Given the description of an element on the screen output the (x, y) to click on. 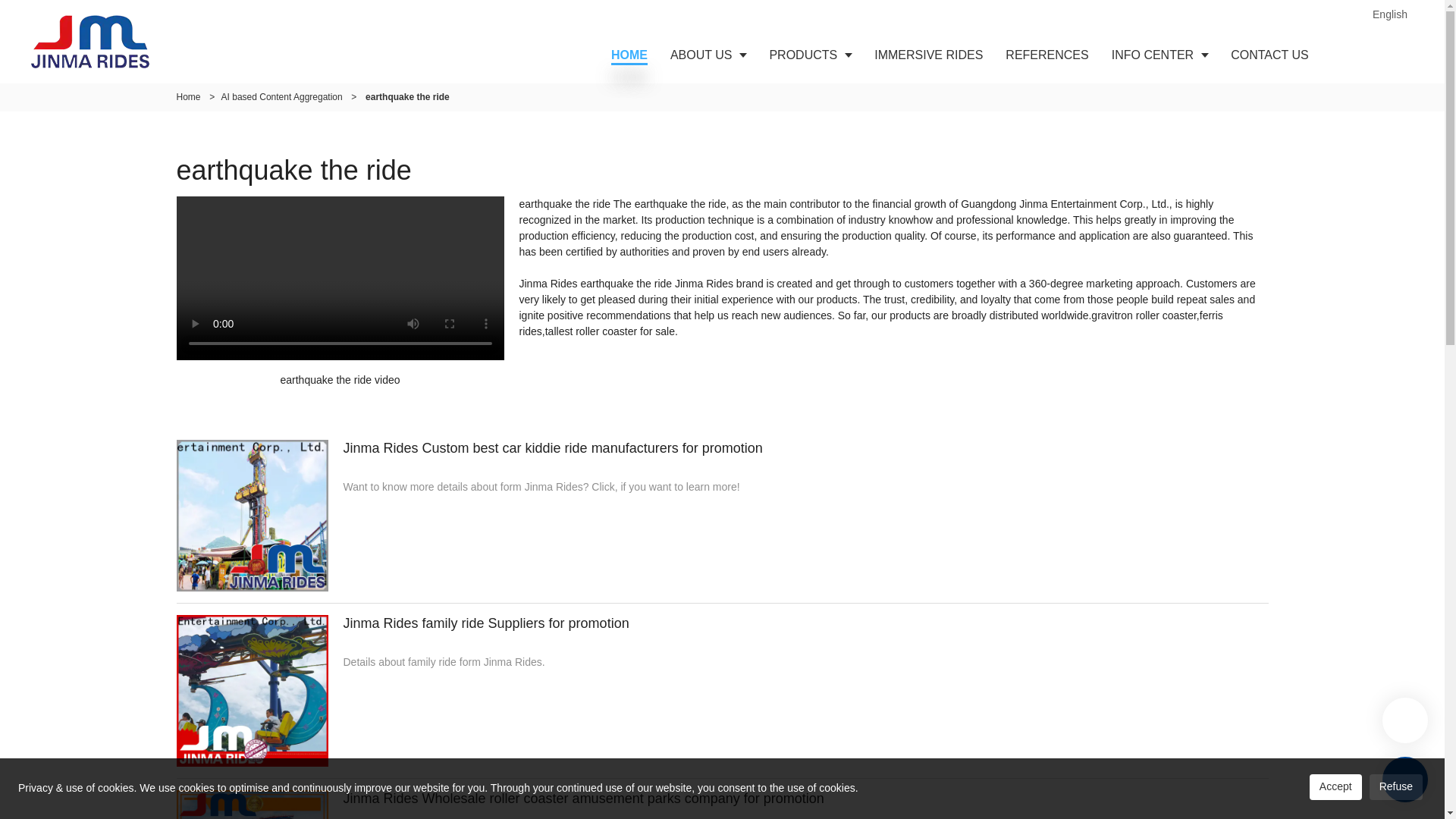
Home (188, 96)
INFO CENTER (1160, 55)
ABOUT US (708, 55)
CONTACT US (1270, 55)
HOME (629, 55)
PRODUCTS (810, 55)
AI based Content Aggregation (281, 96)
IMMERSIVE RIDES (928, 55)
